Given the description of an element on the screen output the (x, y) to click on. 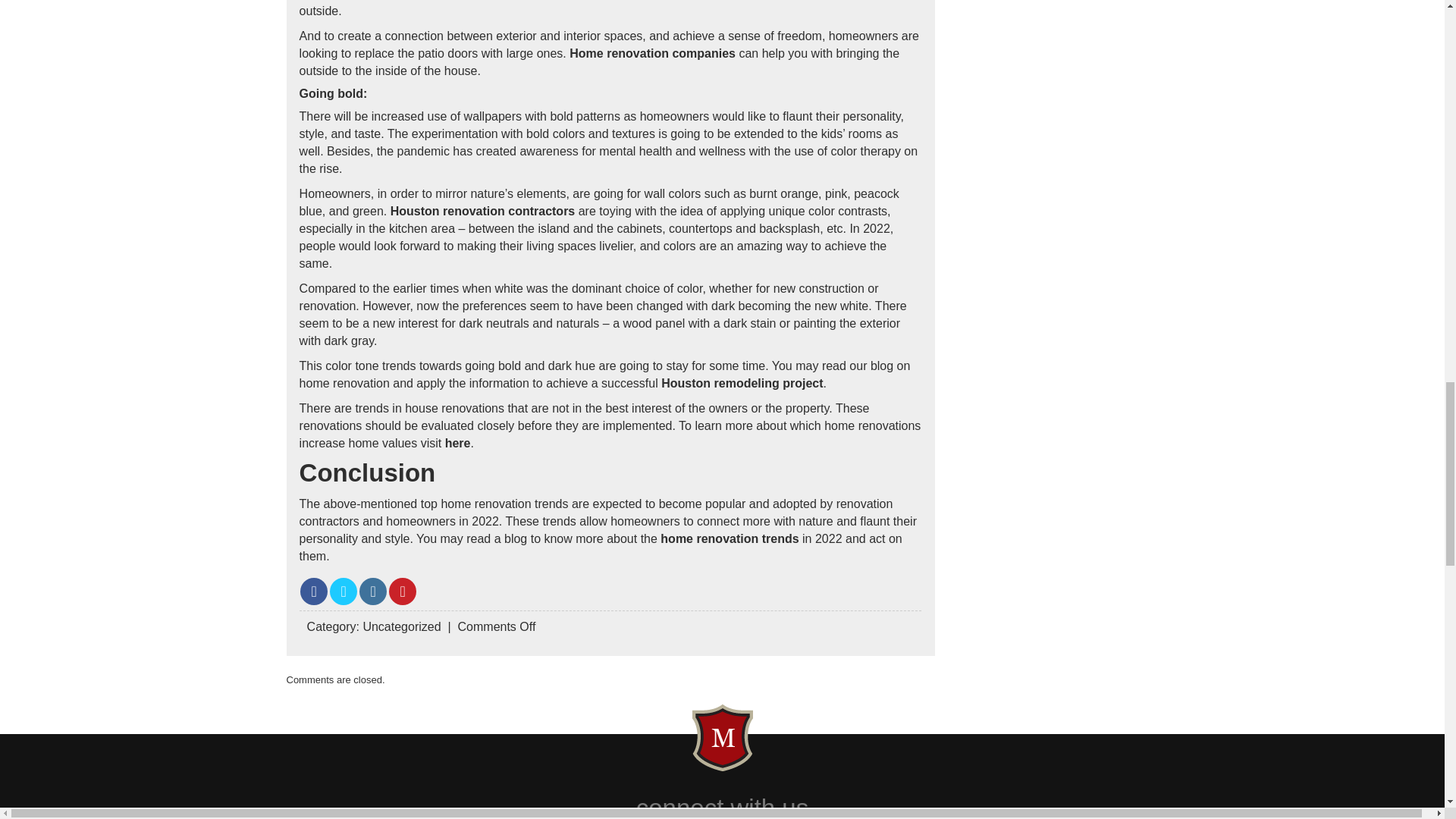
Share on Facebook (313, 591)
Share on Twitter (343, 591)
Share on LinkedIn (373, 591)
